Given the description of an element on the screen output the (x, y) to click on. 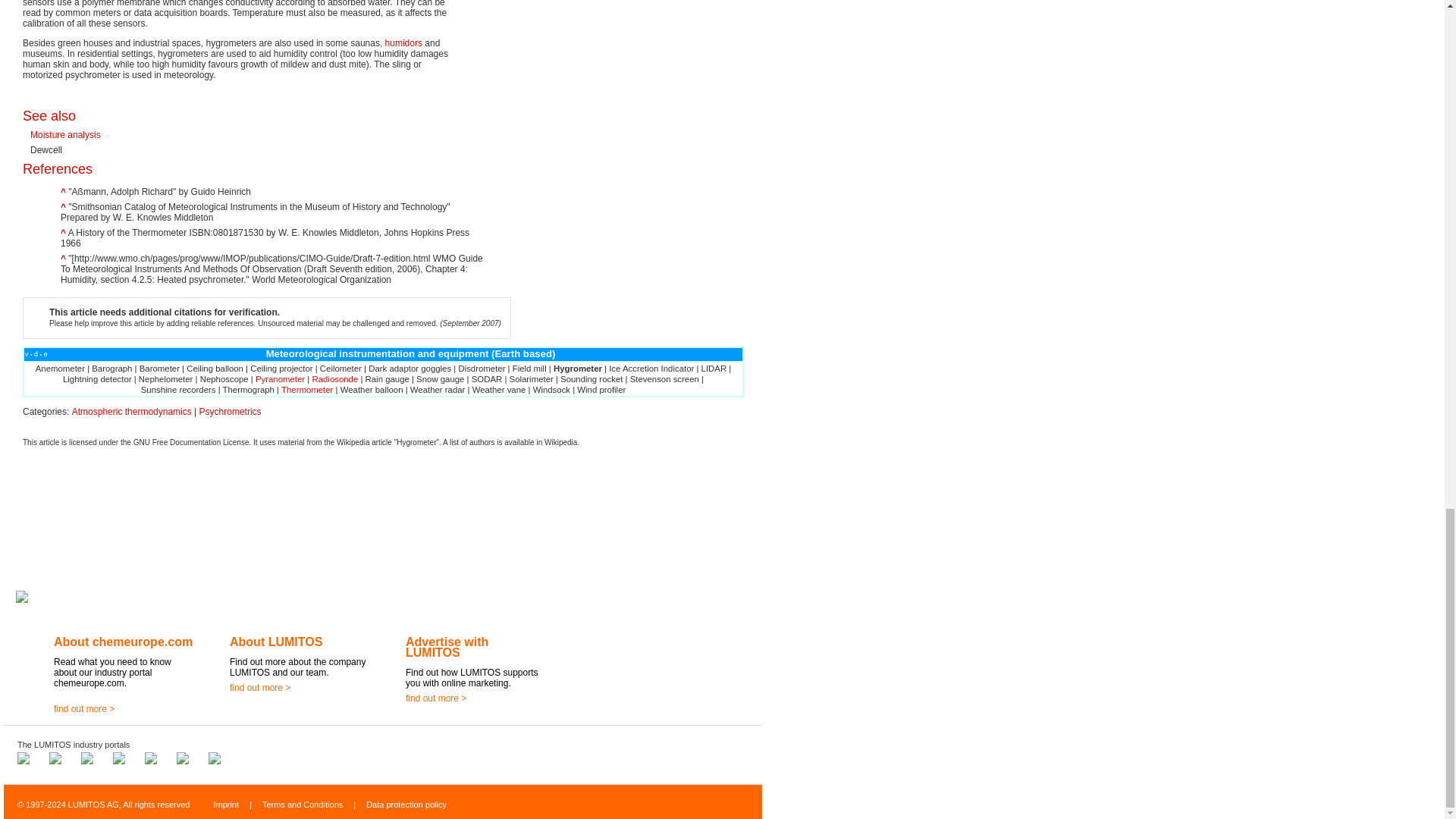
Moisture analysis (65, 134)
Humidor (403, 42)
